Given the description of an element on the screen output the (x, y) to click on. 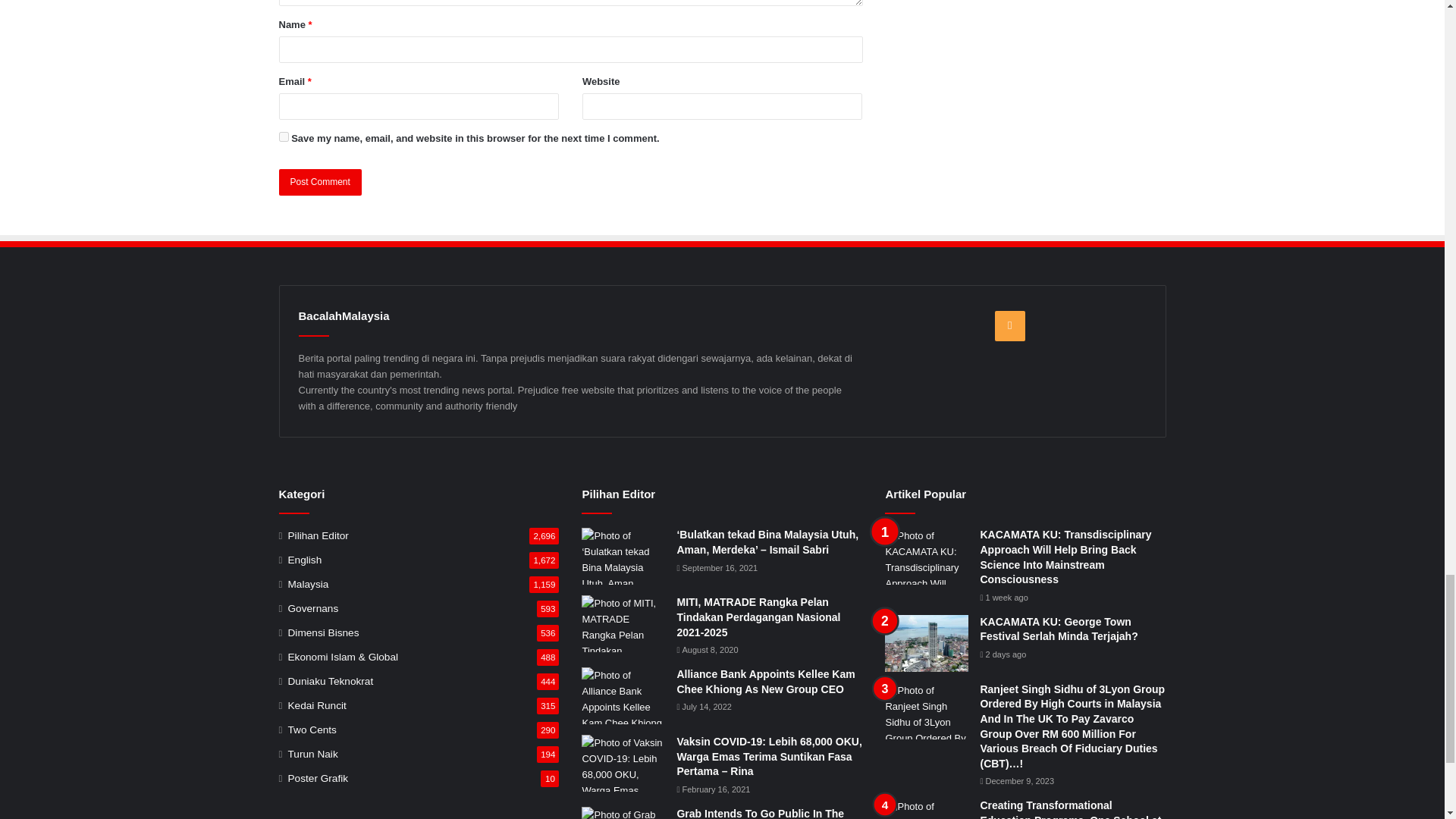
yes (283, 136)
Post Comment (320, 181)
